Given the description of an element on the screen output the (x, y) to click on. 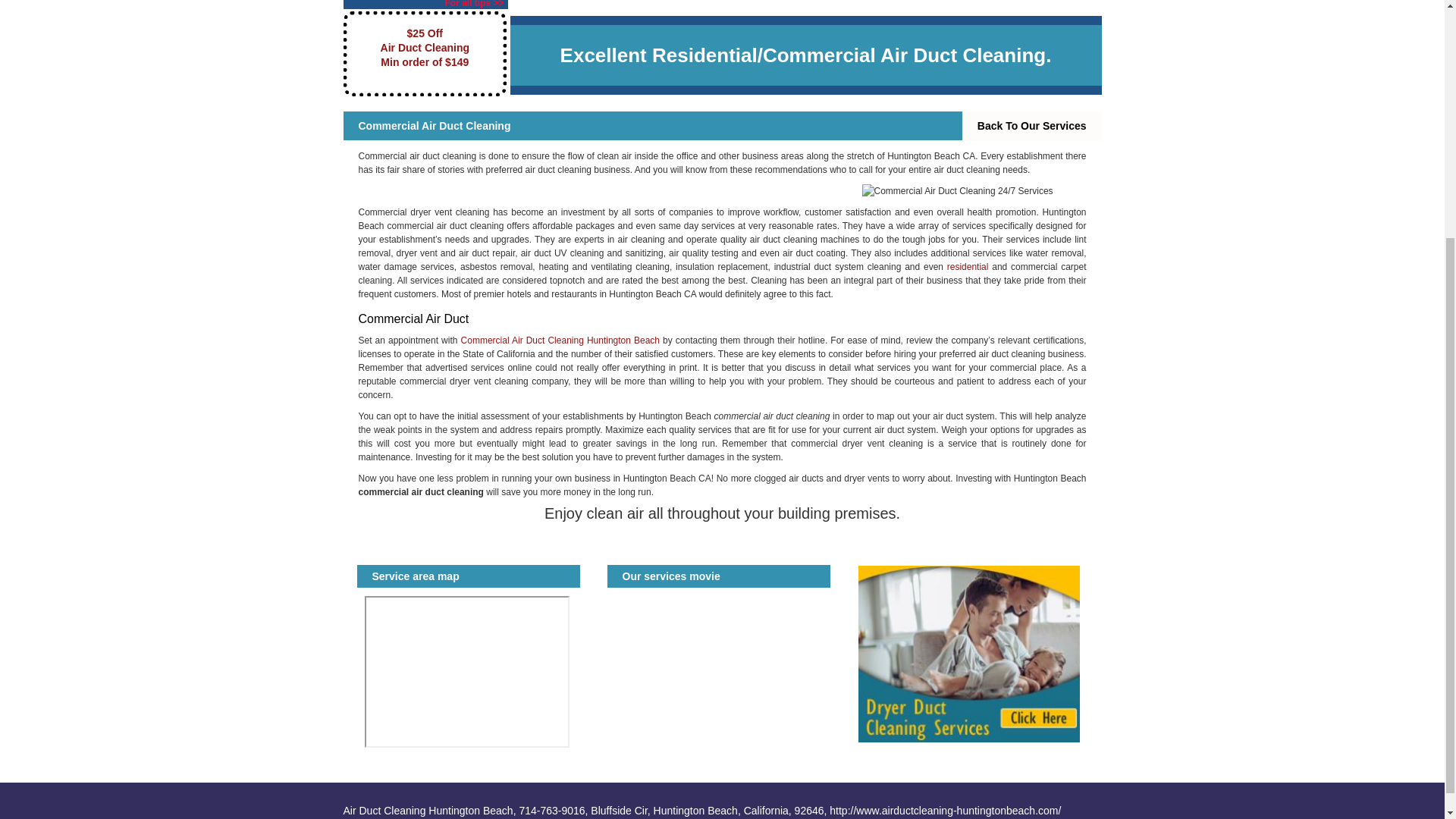
Commercial Air Duct Cleaning (969, 191)
residential (967, 266)
Commercial Air Duct Cleaning Huntington Beach (560, 339)
Back To Our Services (1032, 125)
